Given the description of an element on the screen output the (x, y) to click on. 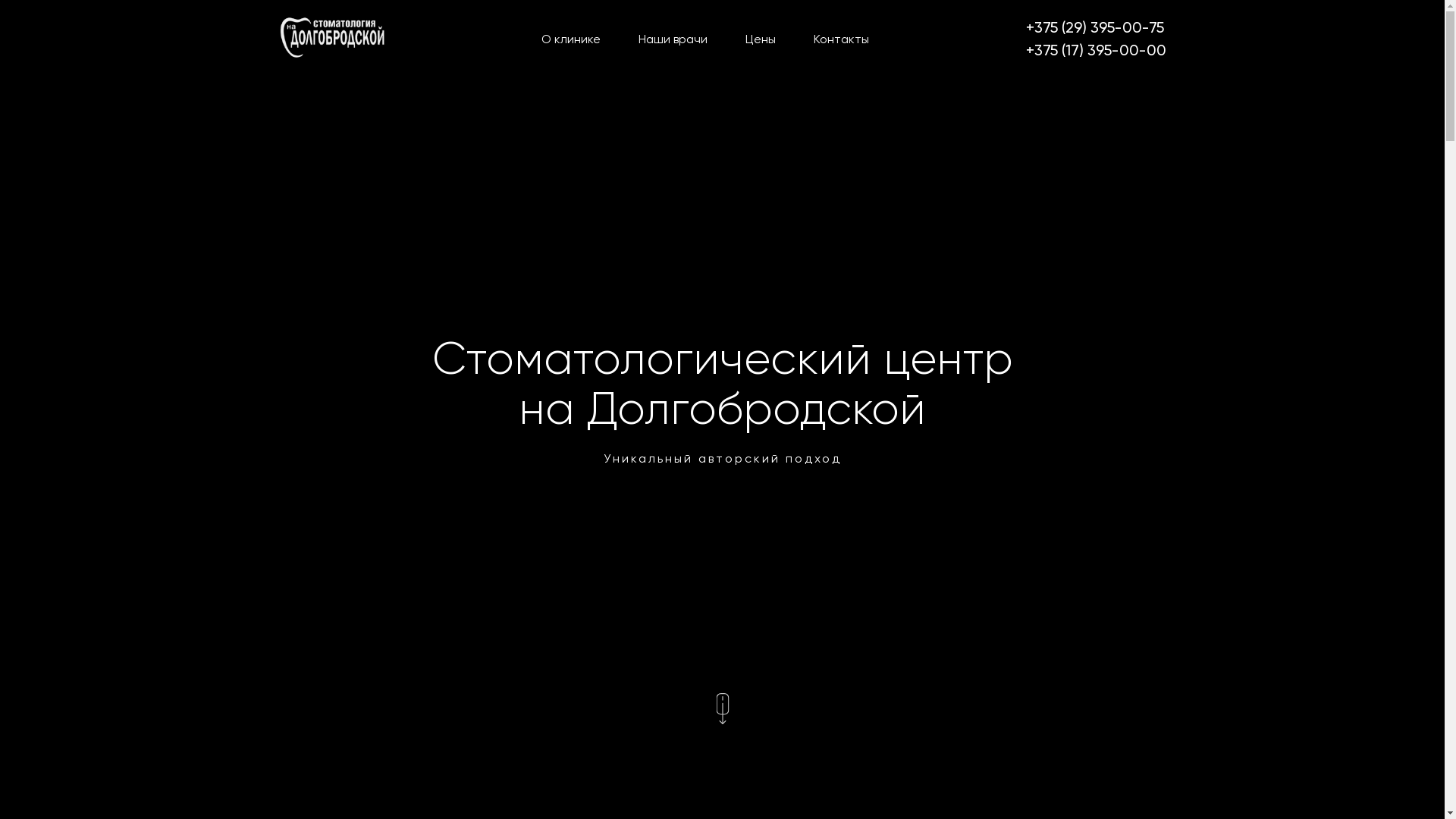
+375 (17) 395-00-00 Element type: text (1095, 49)
+375 (29) 395-00-75 Element type: text (1095, 26)
